Given the description of an element on the screen output the (x, y) to click on. 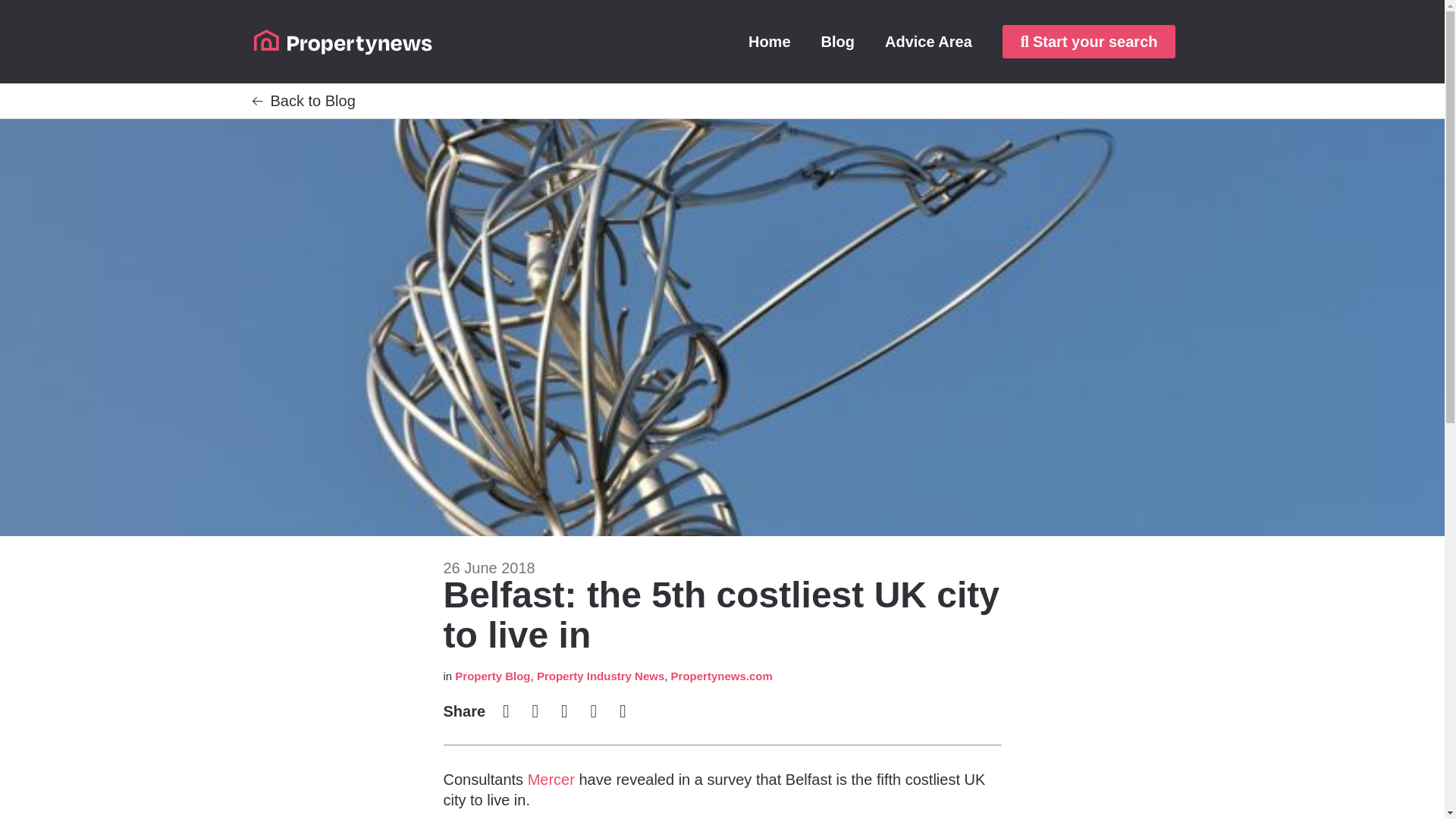
Advice Area (928, 41)
Property Industry News (600, 675)
Start your search (1089, 41)
Home (769, 41)
Mercer (551, 779)
Property Blog (491, 675)
Back to Blog (312, 100)
Blog (837, 41)
Propertynews.com (722, 675)
